Given the description of an element on the screen output the (x, y) to click on. 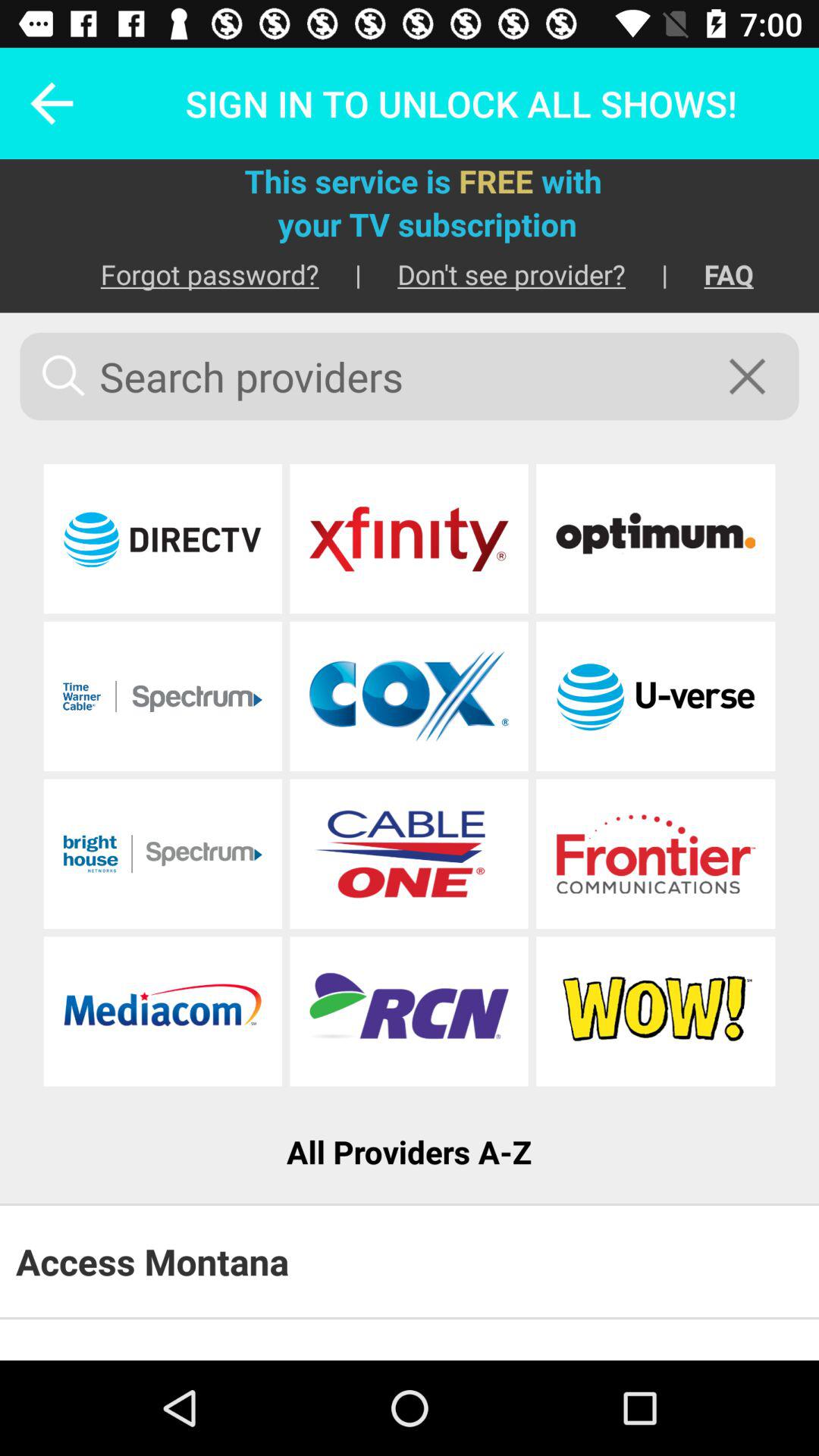
turn off icon below the faq (757, 376)
